Given the description of an element on the screen output the (x, y) to click on. 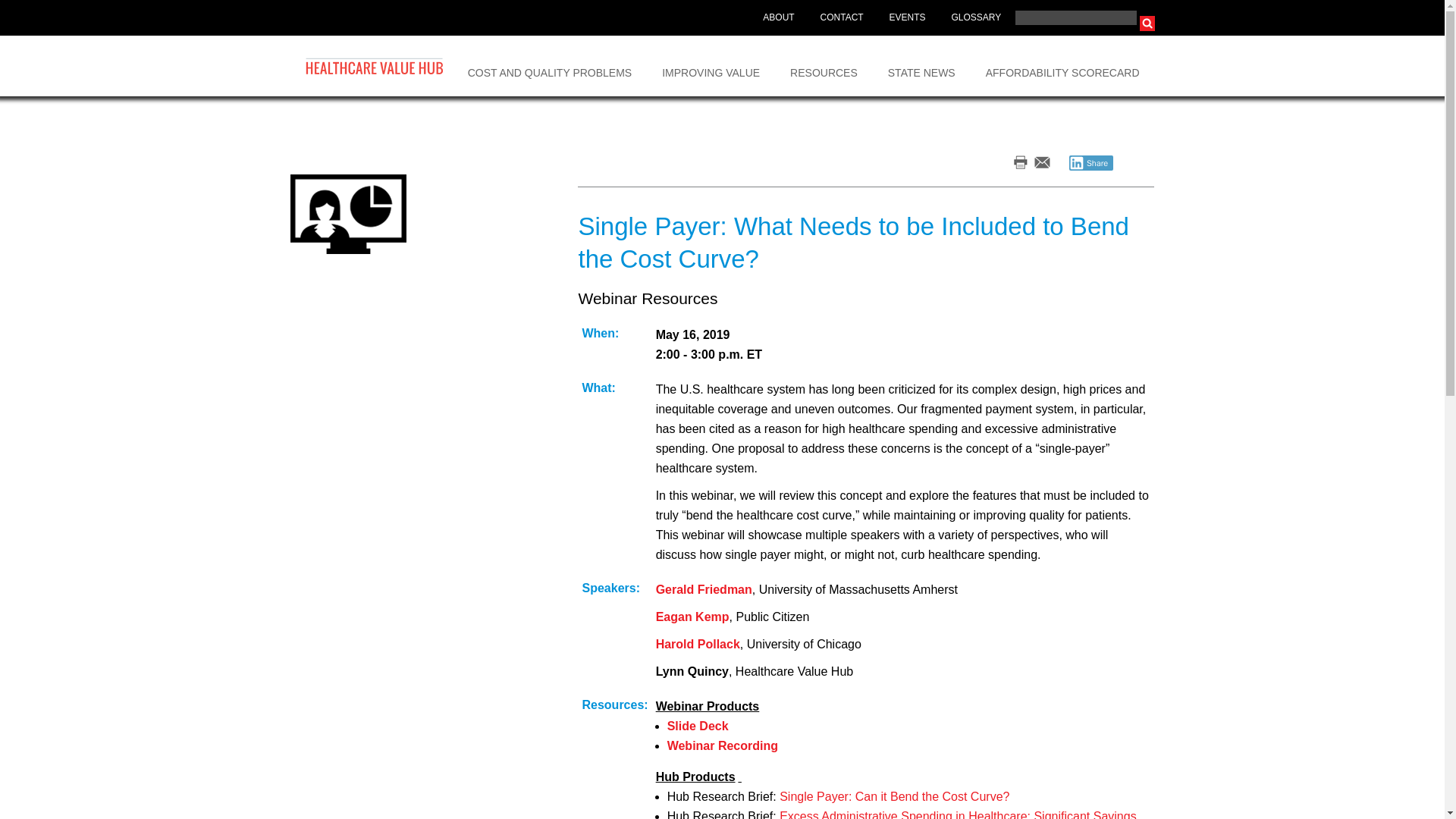
STATE NEWS (921, 66)
Share (1090, 162)
Eagan Kemp (692, 616)
GLOSSARY (975, 18)
Single Payer: Can it Bend the Cost Curve? (893, 796)
RESOURCES (823, 66)
Harold Pollack (697, 644)
EVENTS (907, 18)
COST AND QUALITY PROBLEMS (549, 66)
